Given the description of an element on the screen output the (x, y) to click on. 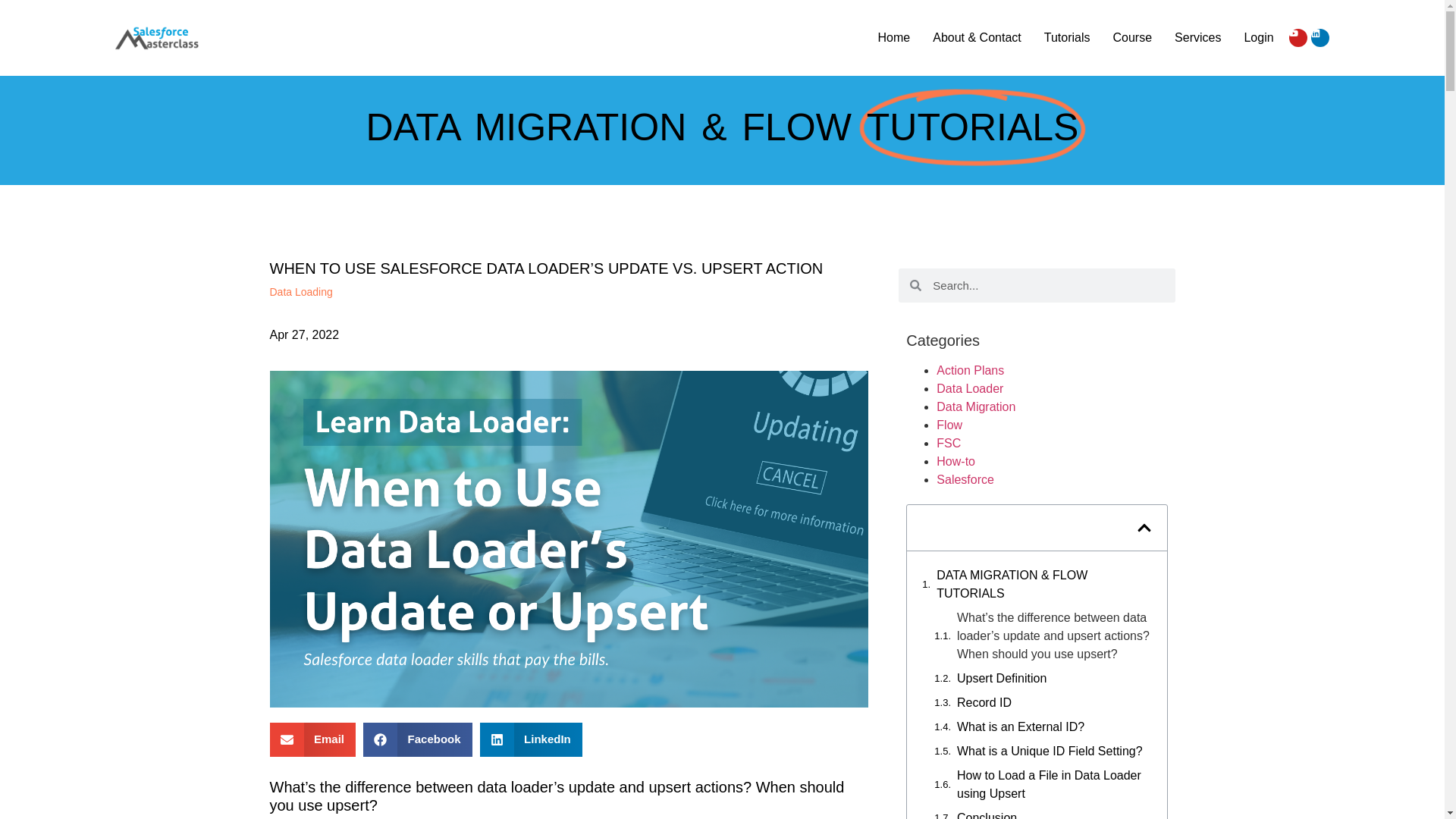
FSC (948, 442)
Flow (949, 424)
Login (1257, 37)
Data Loader (969, 388)
Services (1197, 37)
How-to (955, 461)
Data Migration (975, 406)
Action Plans (970, 369)
Home (894, 37)
Course (1133, 37)
Tutorials (1066, 37)
